Given the description of an element on the screen output the (x, y) to click on. 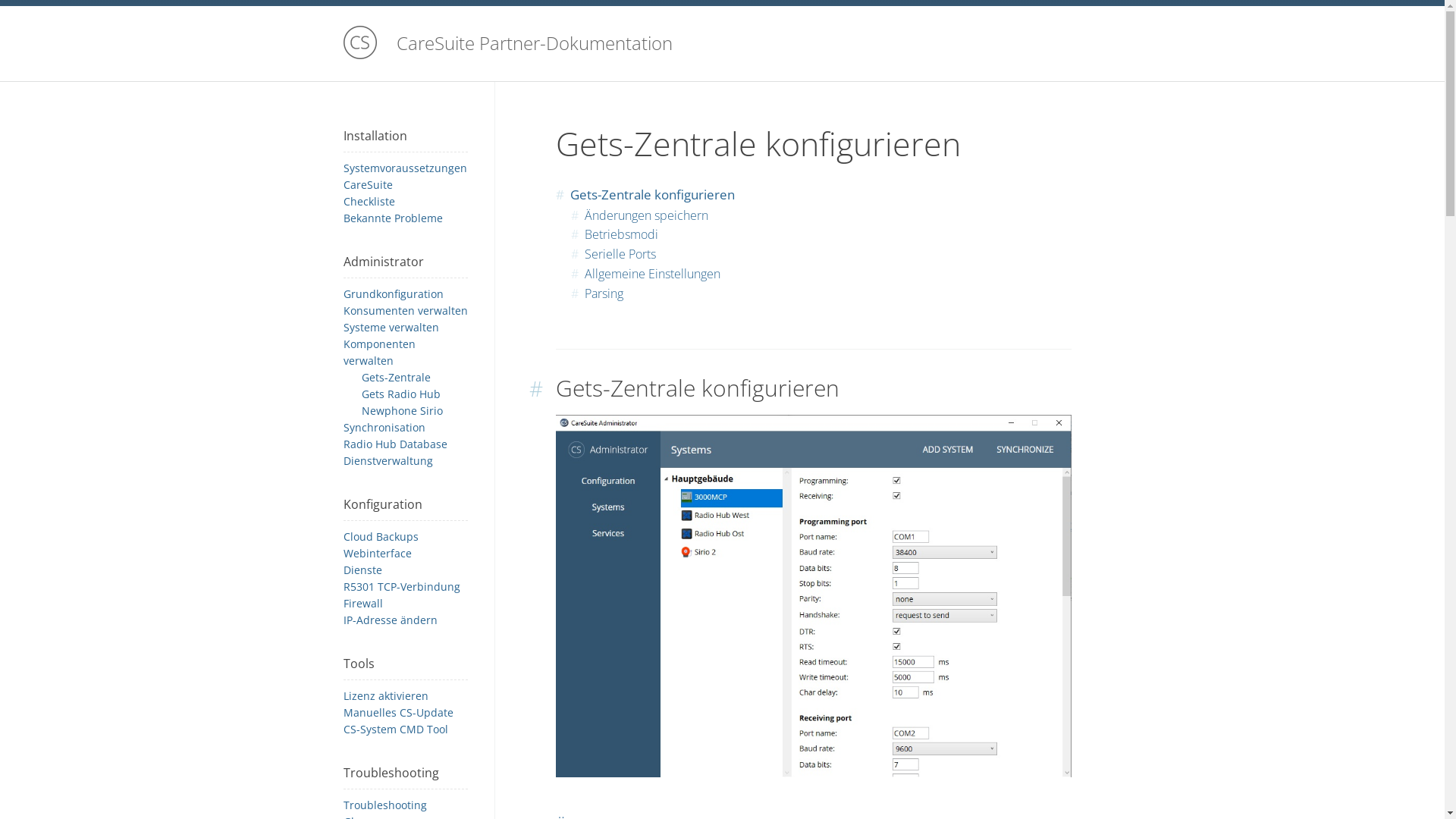
Gets-Zentrale konfigurieren Element type: text (652, 194)
Allgemeine Einstellungen Element type: text (651, 273)
Synchronisation Element type: text (383, 427)
Dienste Element type: text (361, 569)
Troubleshooting Element type: text (384, 804)
Bekannte Probleme Element type: text (392, 217)
Radio Hub Database Element type: text (394, 443)
Konfiguration der Komponente '3000MCP' Element type: hover (812, 595)
Konsumenten verwalten Element type: text (404, 310)
Grundkonfiguration Element type: text (392, 293)
Systeme verwalten Element type: text (390, 327)
Newphone Sirio Element type: text (401, 410)
Webinterface Element type: text (376, 553)
Komponenten verwalten Element type: text (378, 351)
CareSuite Partner-Dokumentation Element type: text (721, 43)
Gets-Zentrale Element type: text (394, 377)
R5301 TCP-Verbindung Element type: text (400, 586)
CS-System CMD Tool Element type: text (394, 728)
Cloud Backups Element type: text (379, 536)
Lizenz aktivieren Element type: text (384, 695)
Serielle Ports Element type: text (619, 253)
Manuelles CS-Update Element type: text (397, 712)
Betriebsmodi Element type: text (620, 233)
Gets Radio Hub Element type: text (399, 393)
Systemvoraussetzungen Element type: text (404, 167)
Gets-Zentrale konfigurieren Element type: text (696, 387)
Dienstverwaltung Element type: text (387, 460)
Firewall Element type: text (362, 603)
CareSuite Element type: text (367, 184)
Checkliste Element type: text (368, 201)
Parsing Element type: text (602, 293)
